Given the description of an element on the screen output the (x, y) to click on. 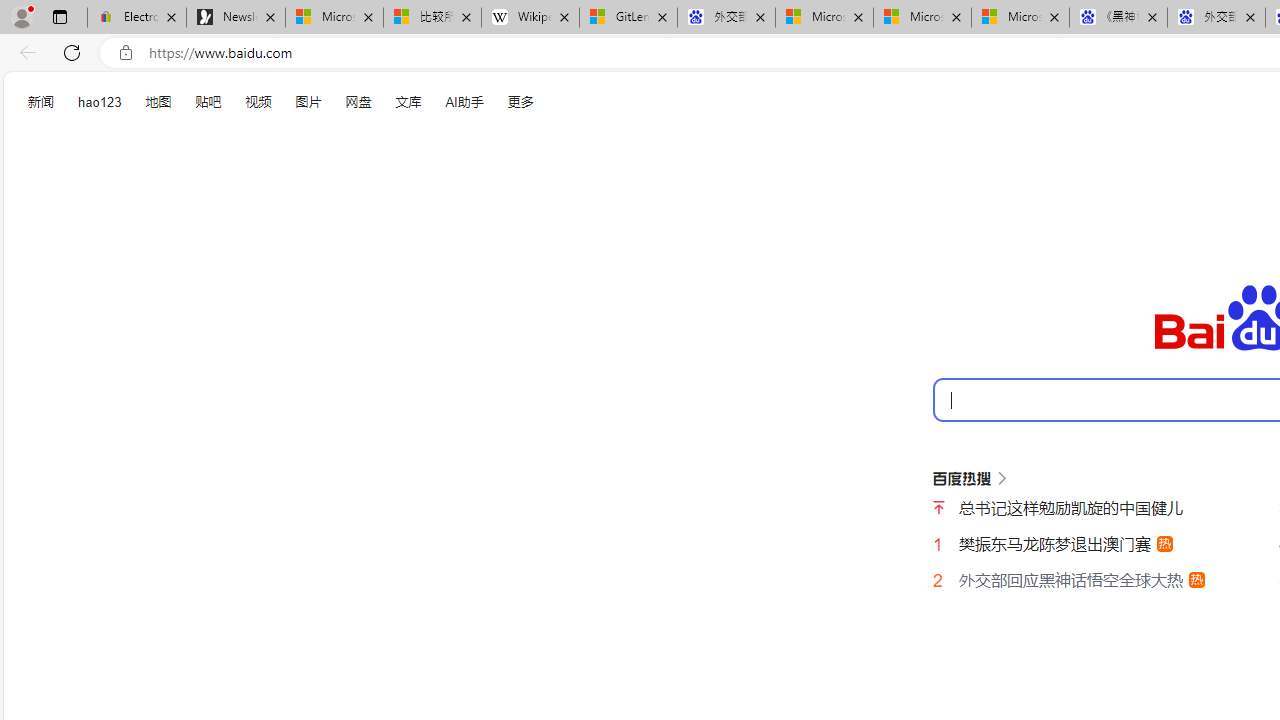
Newsletter Sign Up (235, 17)
hao123 (99, 101)
